Given the description of an element on the screen output the (x, y) to click on. 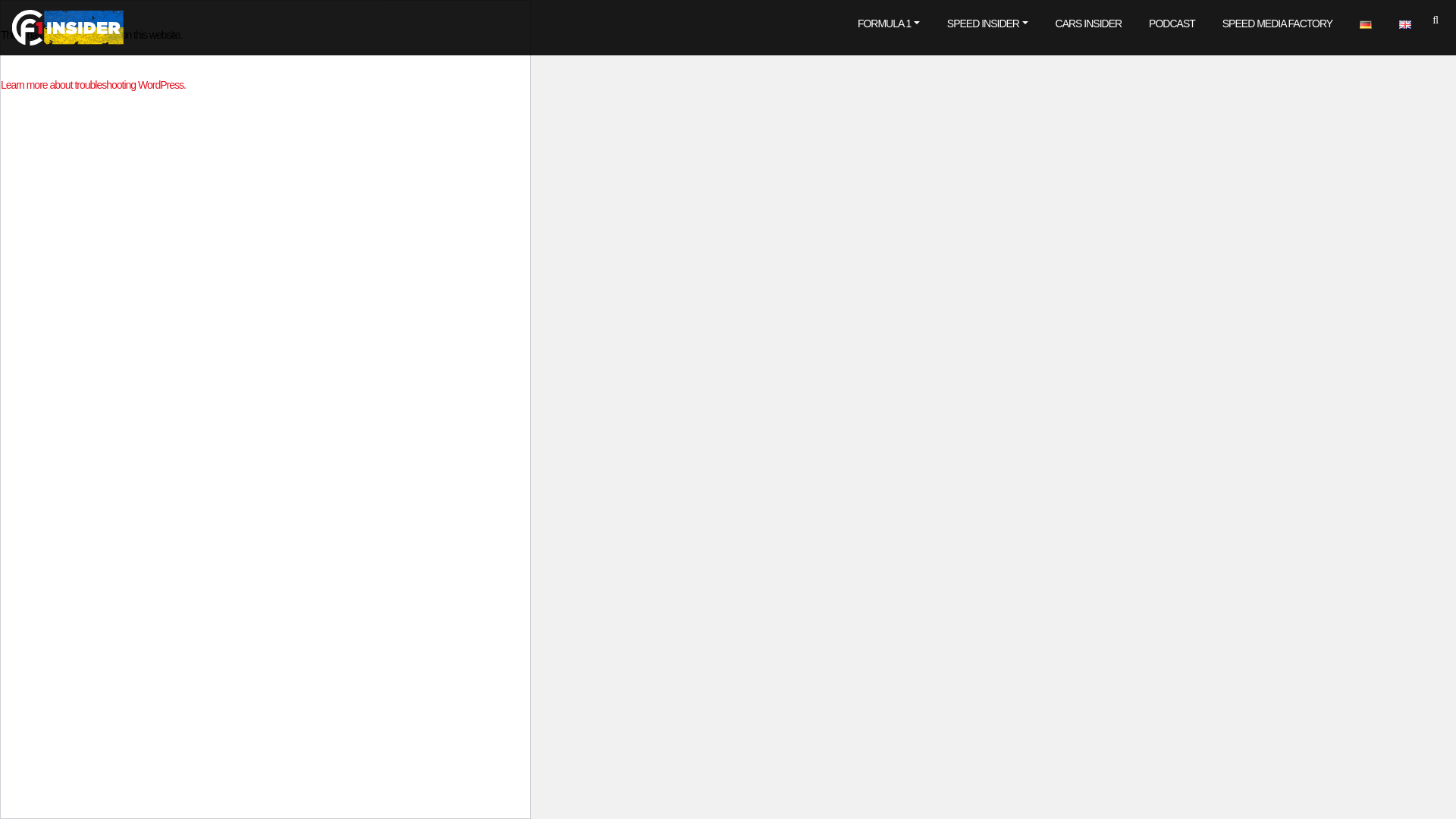
Learn more about troubleshooting WordPress. (93, 84)
